Given the description of an element on the screen output the (x, y) to click on. 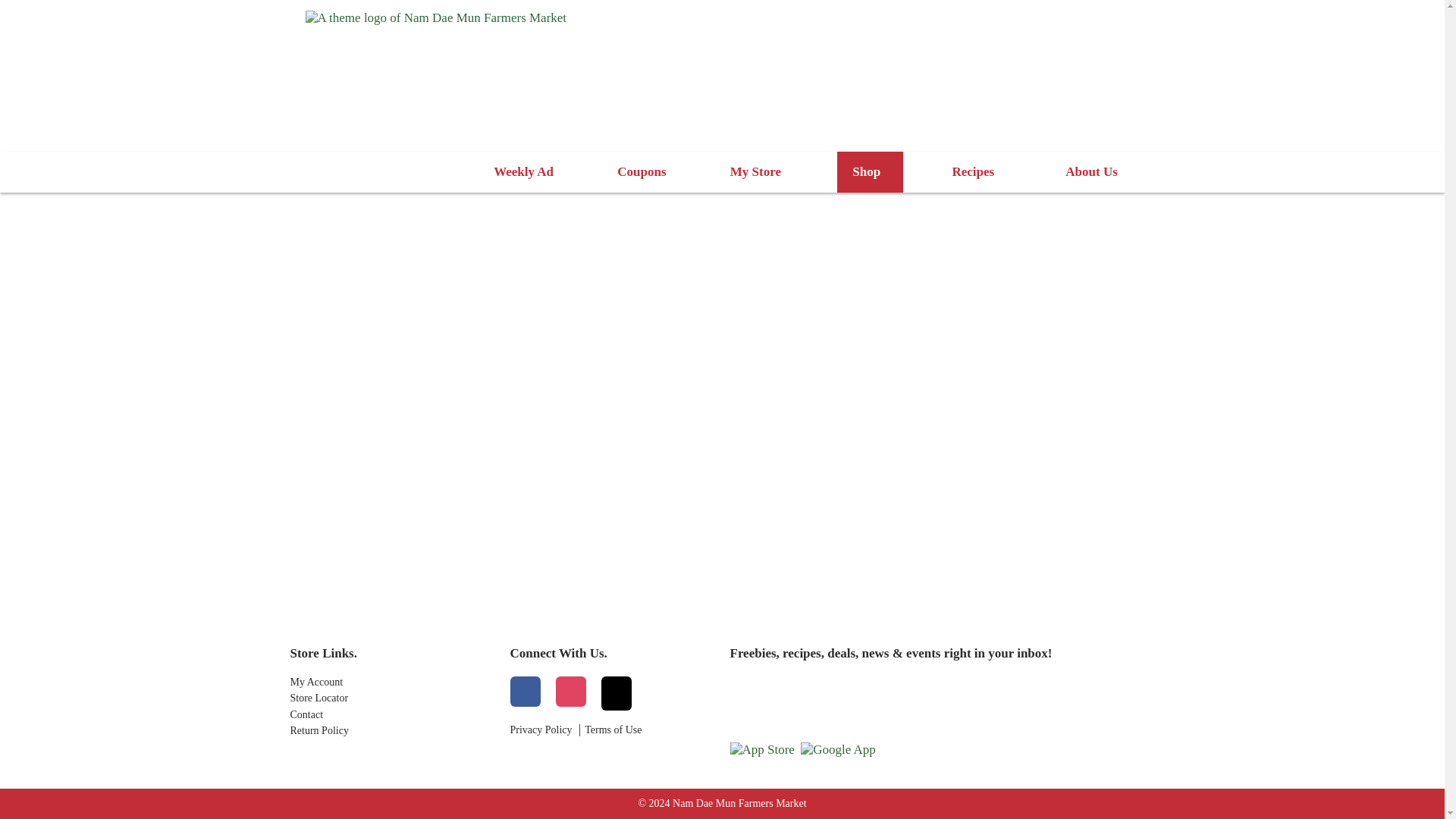
instagram (569, 693)
About Us (1094, 171)
Coupons (641, 171)
Store Locator (392, 698)
My Account (392, 682)
Contact (392, 715)
Recipes (976, 171)
Shop (869, 171)
My Store (758, 171)
Weekly Ad (524, 171)
Terms of Use (613, 729)
Return Policy (392, 730)
Facebook (524, 693)
Privacy Policy (540, 729)
Tiktok (614, 693)
